Given the description of an element on the screen output the (x, y) to click on. 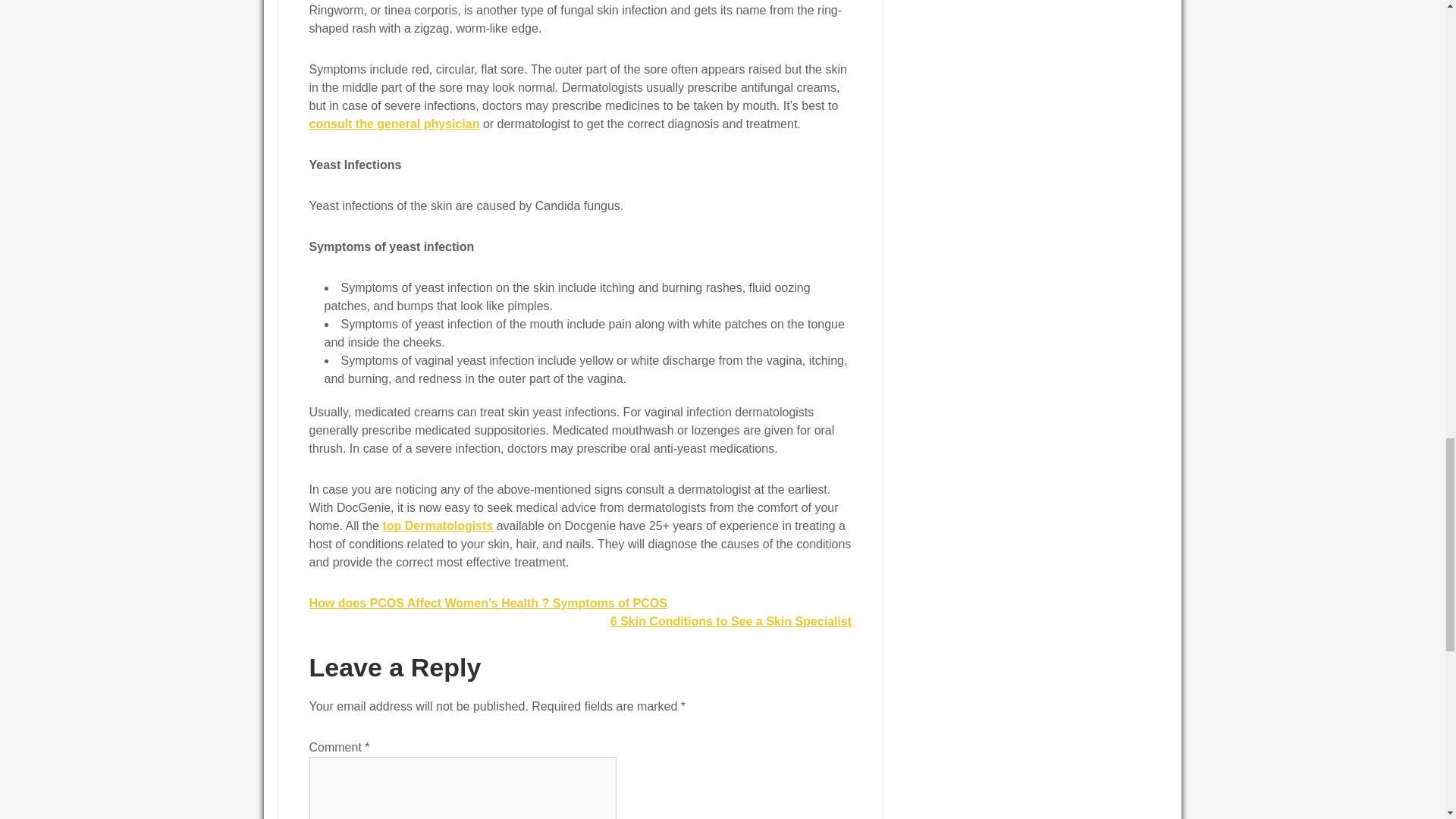
consult the general physician (394, 123)
top Dermatologists (437, 525)
6 Skin Conditions to See a Skin Specialist (730, 621)
